Given the description of an element on the screen output the (x, y) to click on. 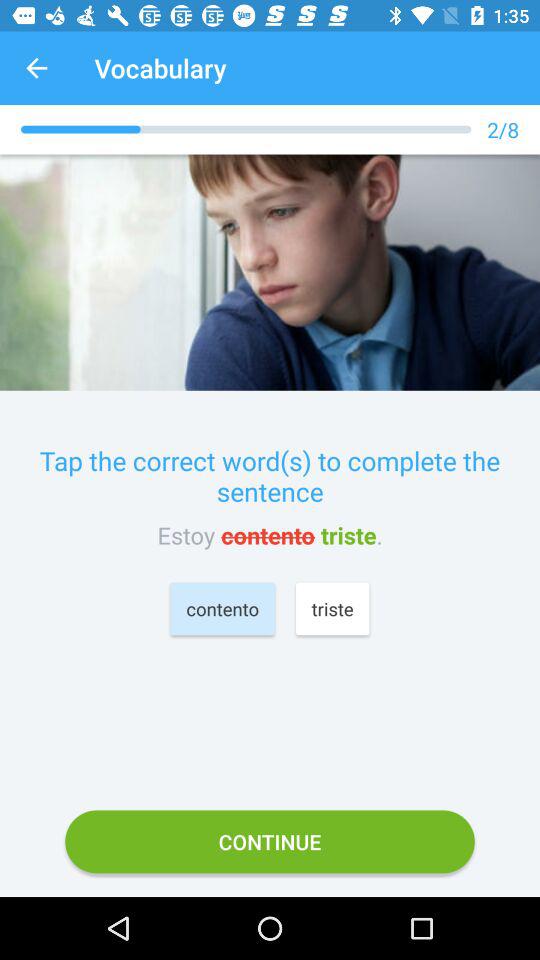
turn off item below contento item (269, 841)
